Given the description of an element on the screen output the (x, y) to click on. 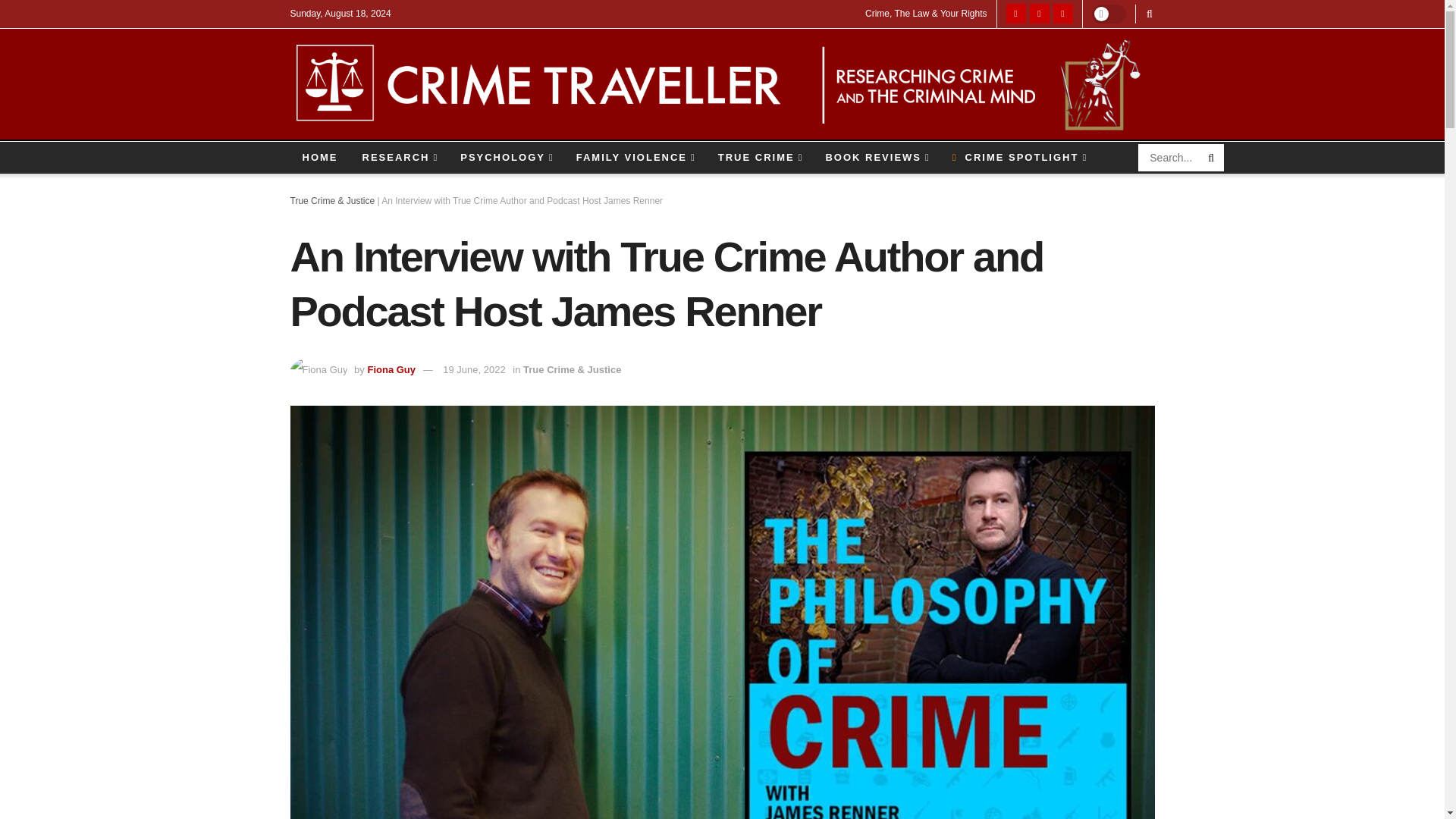
RESEARCH (399, 157)
HOME (319, 157)
PSYCHOLOGY (506, 157)
